Given the description of an element on the screen output the (x, y) to click on. 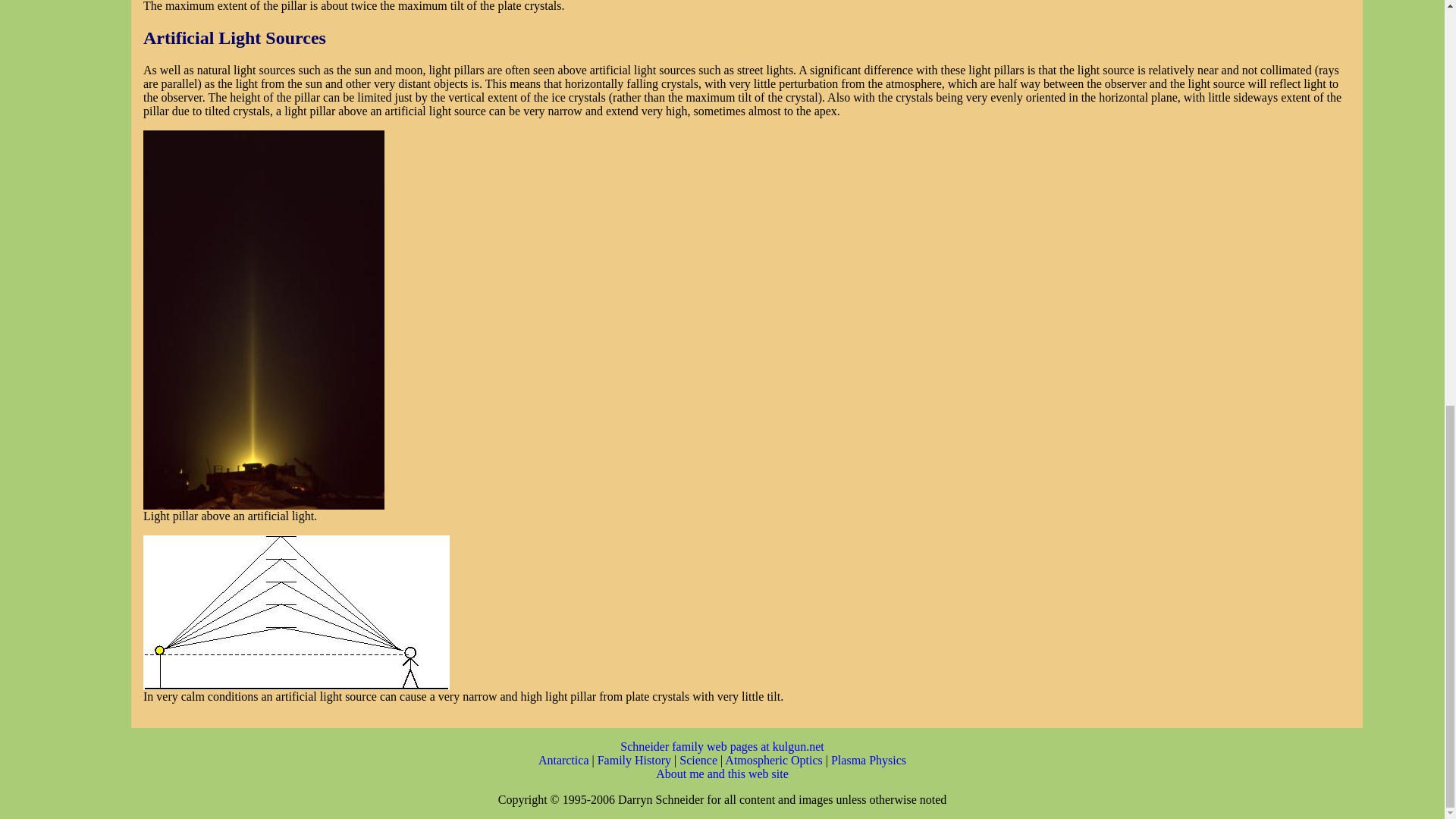
Plasma Physics (868, 758)
About me and this web site (722, 772)
Antarctica (565, 758)
Atmospheric Optics (775, 758)
Science (699, 758)
Family History (635, 758)
Schneider family web pages at kulgun.net (722, 745)
